Given the description of an element on the screen output the (x, y) to click on. 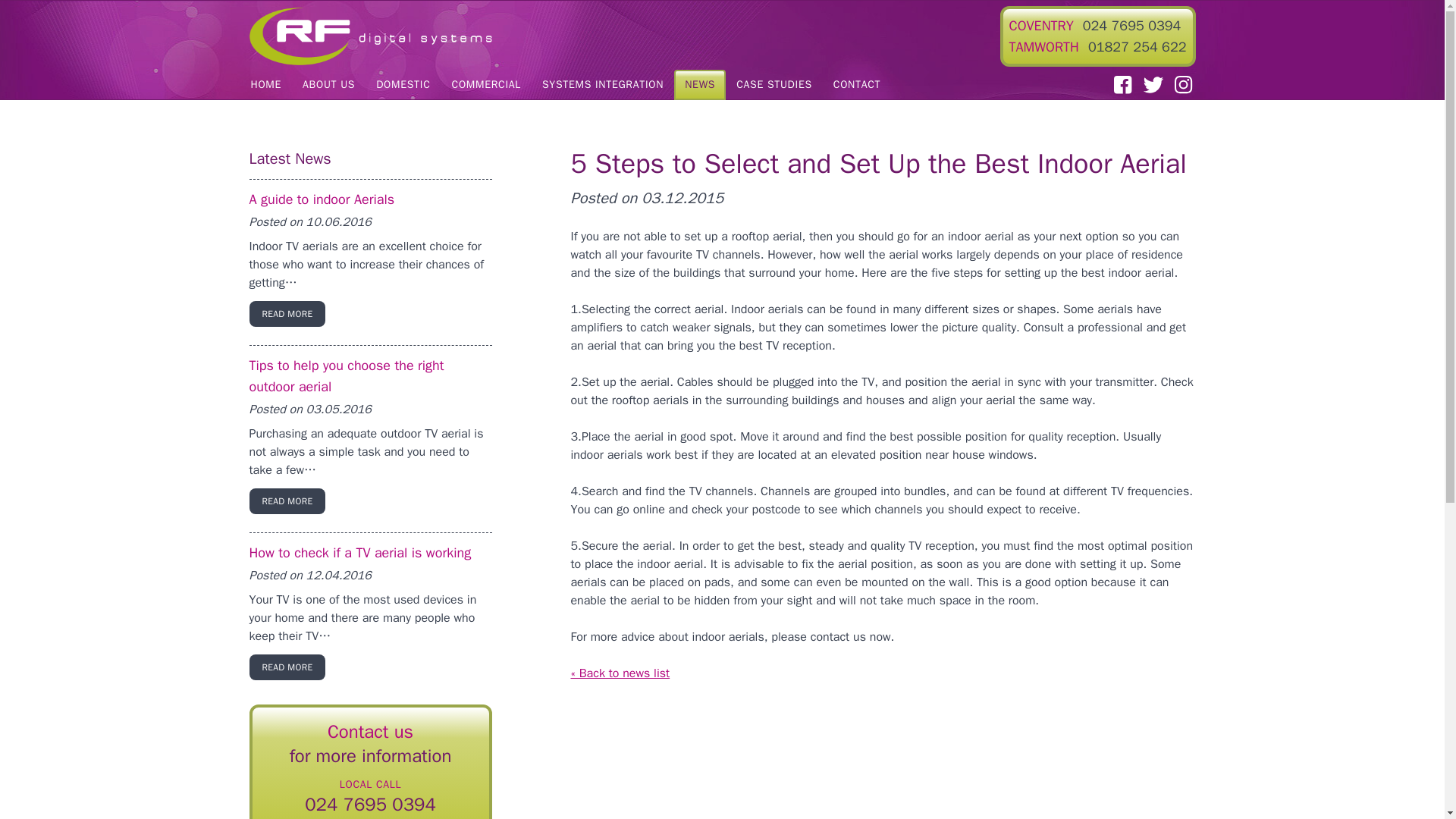
HOME (266, 84)
NEWS (699, 84)
SYSTEMS INTEGRATION (602, 84)
DOMESTIC (403, 84)
COMMERCIAL (486, 84)
024 7695 0394 (1131, 25)
CONTACT (856, 84)
ABOUT US (328, 84)
CASE STUDIES (773, 84)
01827 254 622 (1136, 46)
